Given the description of an element on the screen output the (x, y) to click on. 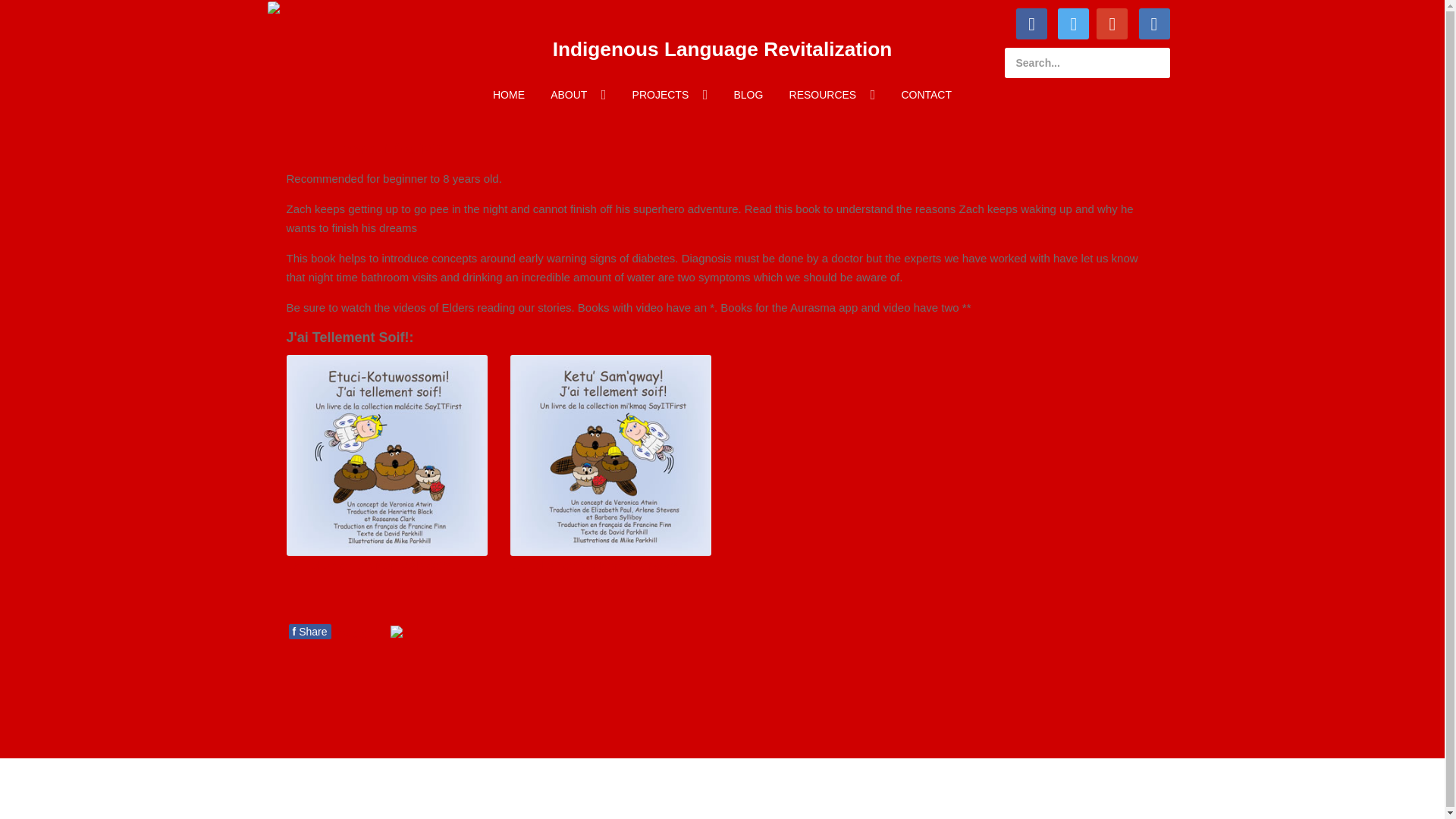
RESOURCES (831, 94)
PROJECTS (670, 94)
CONTACT (925, 94)
Tweet (352, 633)
HOME (508, 94)
BLOG (748, 94)
fShare (309, 631)
ABOUT (577, 94)
